Given the description of an element on the screen output the (x, y) to click on. 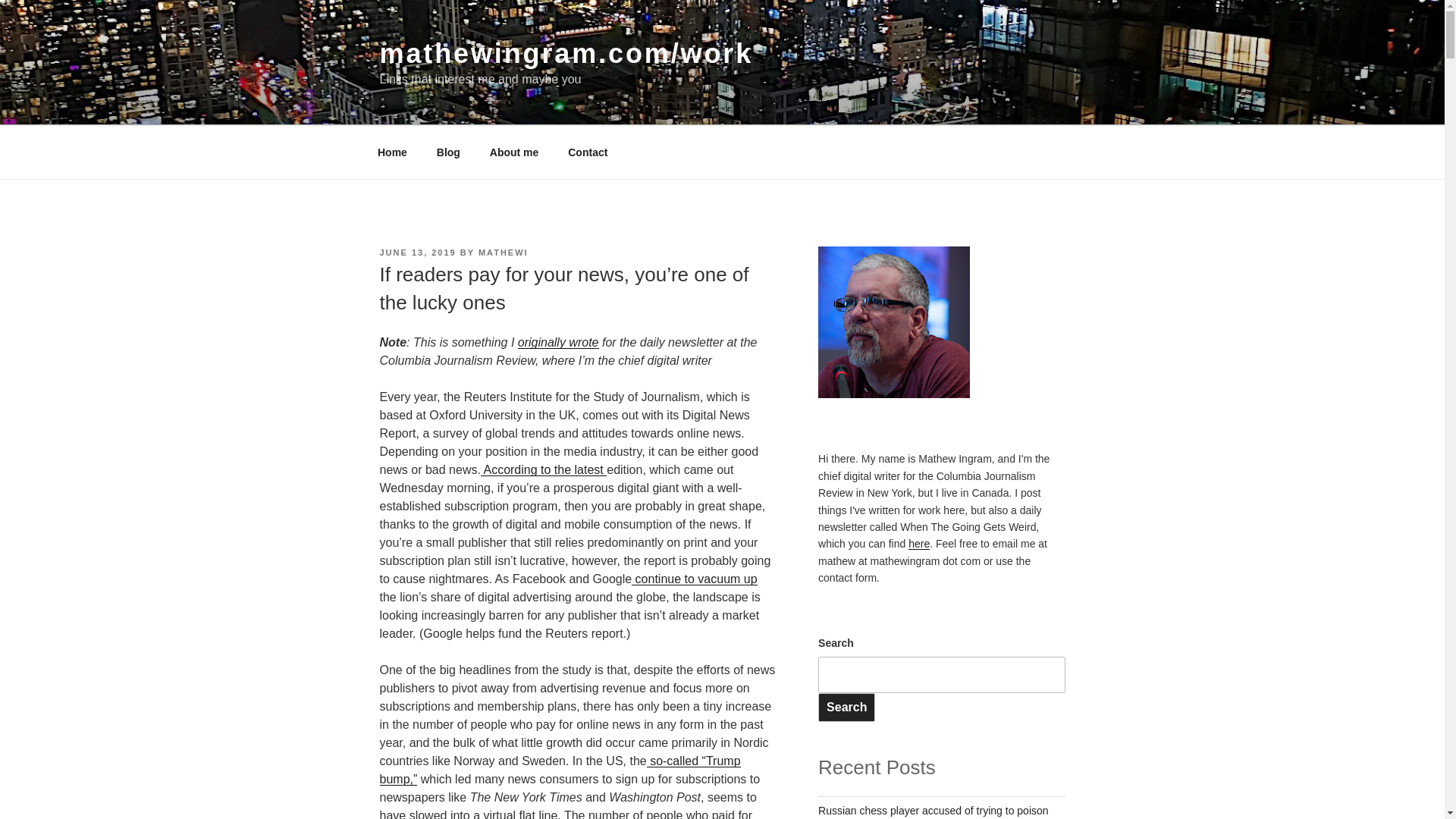
According to the latest (543, 469)
MATHEWI (503, 252)
Contact (587, 151)
About me (513, 151)
Blog (448, 151)
JUNE 13, 2019 (416, 252)
continue to vacuum up (694, 578)
originally wrote (558, 341)
Home (392, 151)
